Given the description of an element on the screen output the (x, y) to click on. 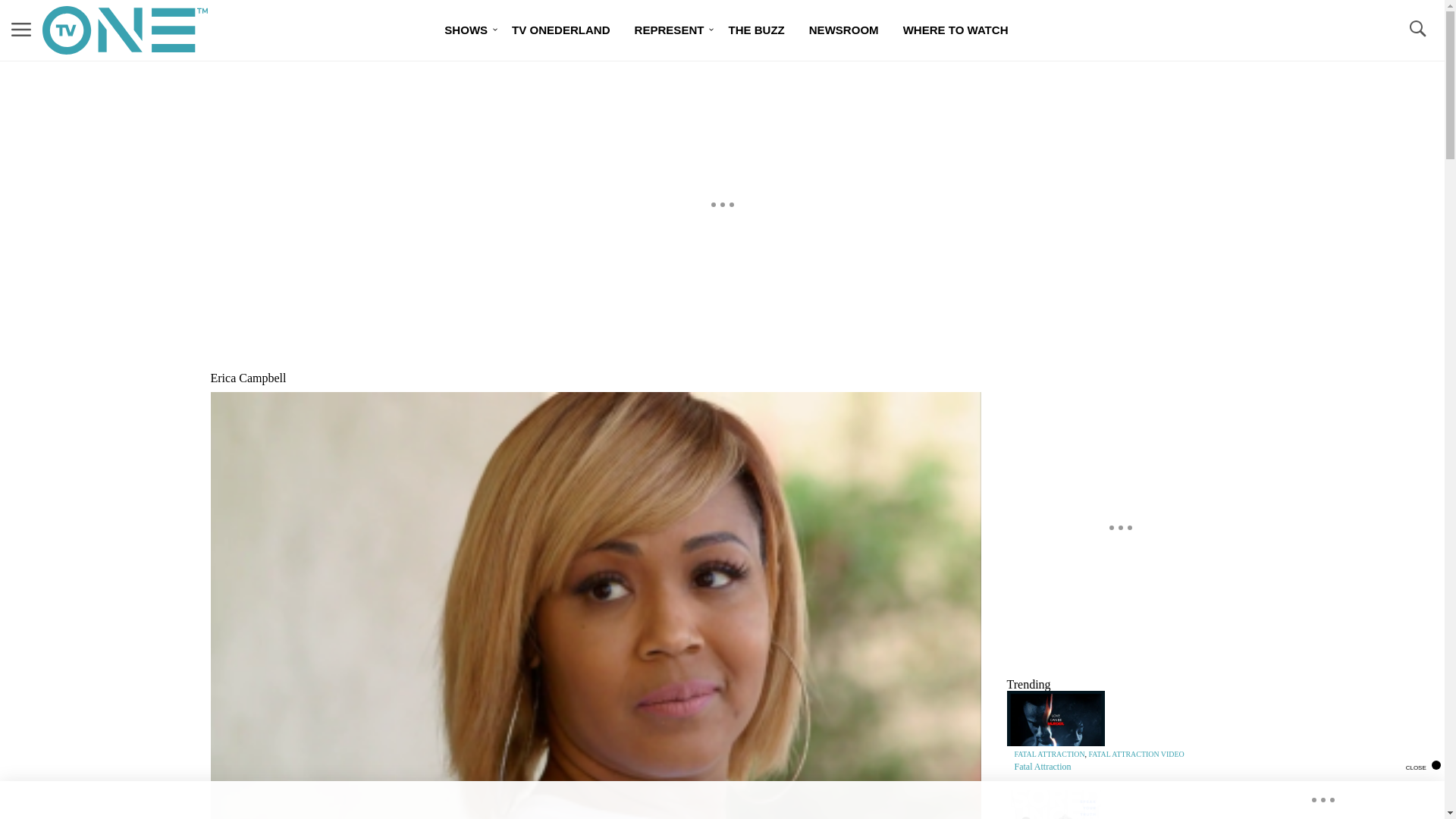
TV ONEDERLAND (560, 30)
TOGGLE SEARCH (1417, 28)
NEWSROOM (843, 30)
MENU (20, 30)
TOGGLE SEARCH (1417, 30)
THE BUZZ (756, 30)
REPRESENT (669, 30)
WHERE TO WATCH (955, 30)
MENU (20, 29)
SHOWS (465, 30)
